Given the description of an element on the screen output the (x, y) to click on. 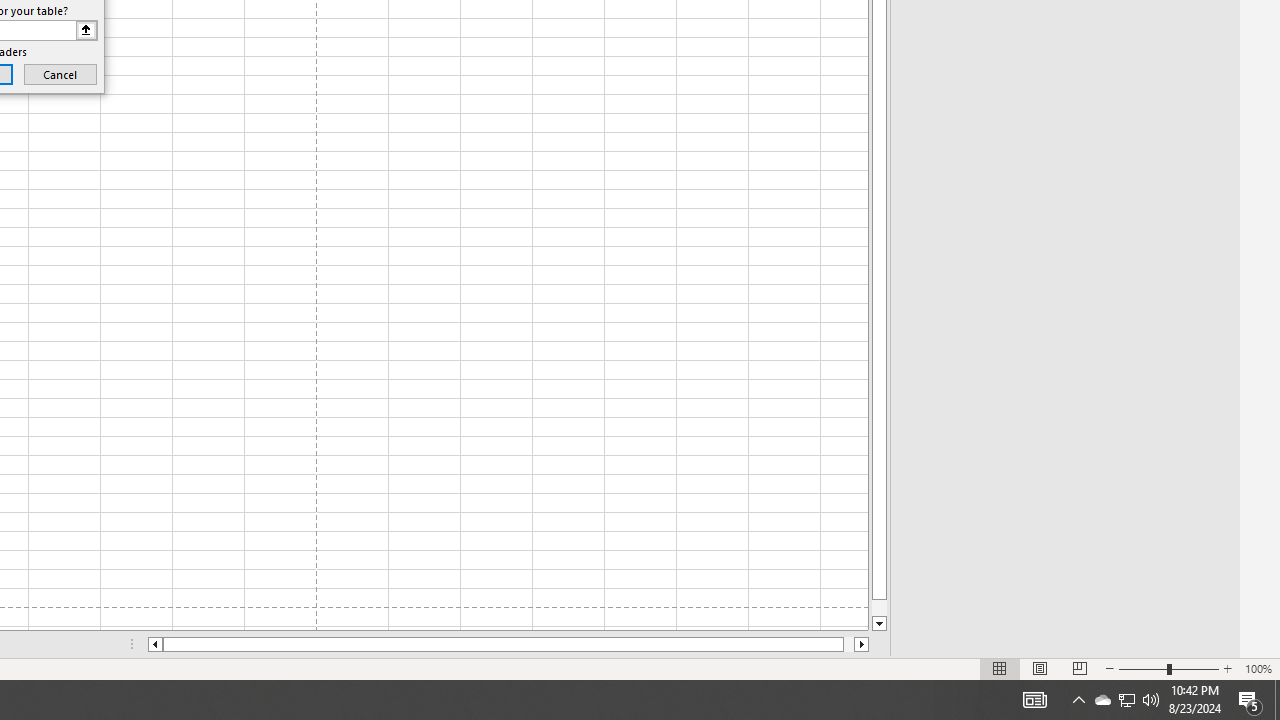
Class: NetUIScrollBar (507, 644)
Column right (861, 644)
Line down (879, 624)
Zoom (1168, 668)
Page right (848, 644)
Normal (1000, 668)
Column left (153, 644)
Page Break Preview (1079, 668)
Page down (879, 607)
Zoom In (1227, 668)
Zoom Out (1142, 668)
